Given the description of an element on the screen output the (x, y) to click on. 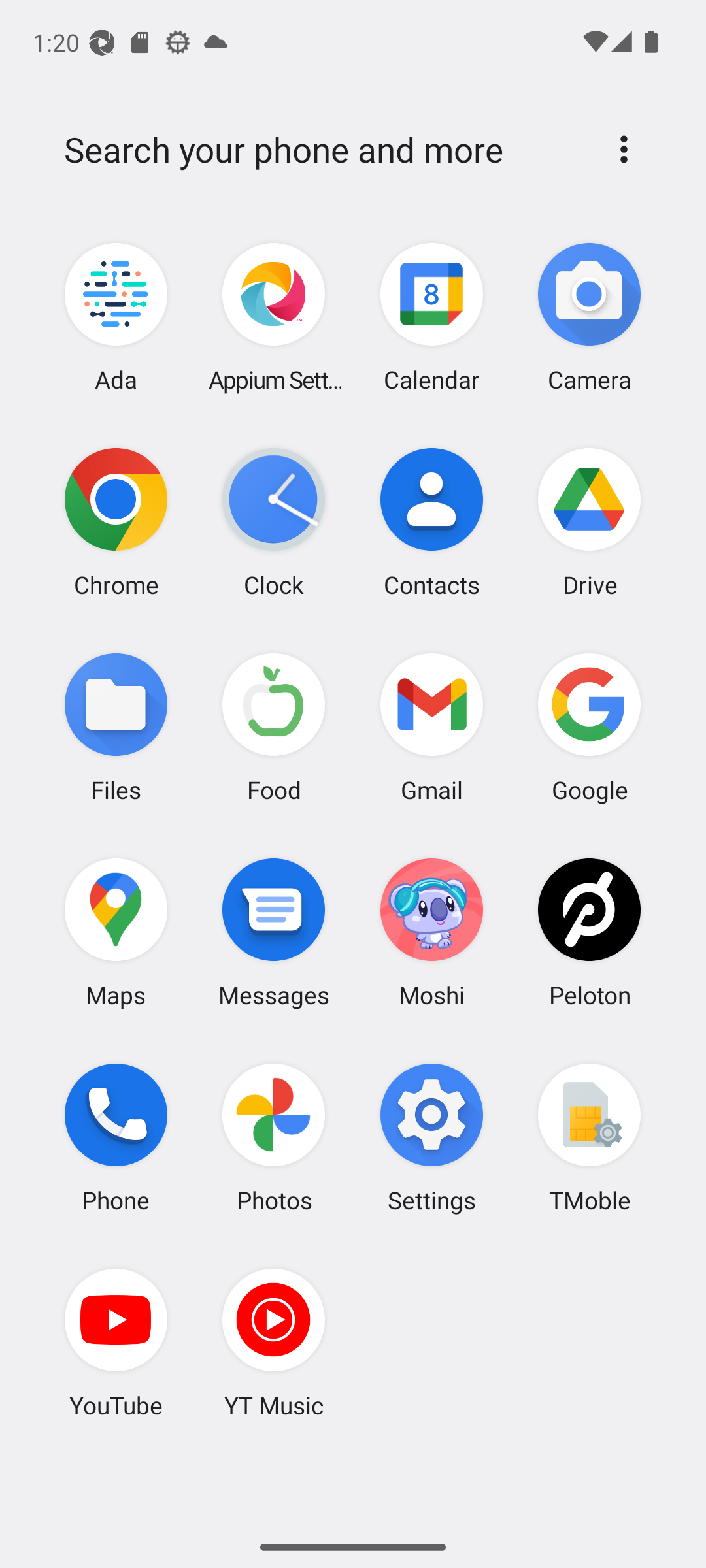
Search your phone and more (321, 149)
Preferences (623, 149)
Ada (115, 317)
Appium Settings (273, 317)
Calendar (431, 317)
Camera (589, 317)
Chrome (115, 522)
Clock (273, 522)
Contacts (431, 522)
Drive (589, 522)
Files (115, 726)
Food (273, 726)
Gmail (431, 726)
Google (589, 726)
Maps (115, 931)
Messages (273, 931)
Moshi (431, 931)
Peloton (589, 931)
Phone (115, 1137)
Photos (273, 1137)
Settings (431, 1137)
TMoble (589, 1137)
YouTube (115, 1342)
YT Music (273, 1342)
